Given the description of an element on the screen output the (x, y) to click on. 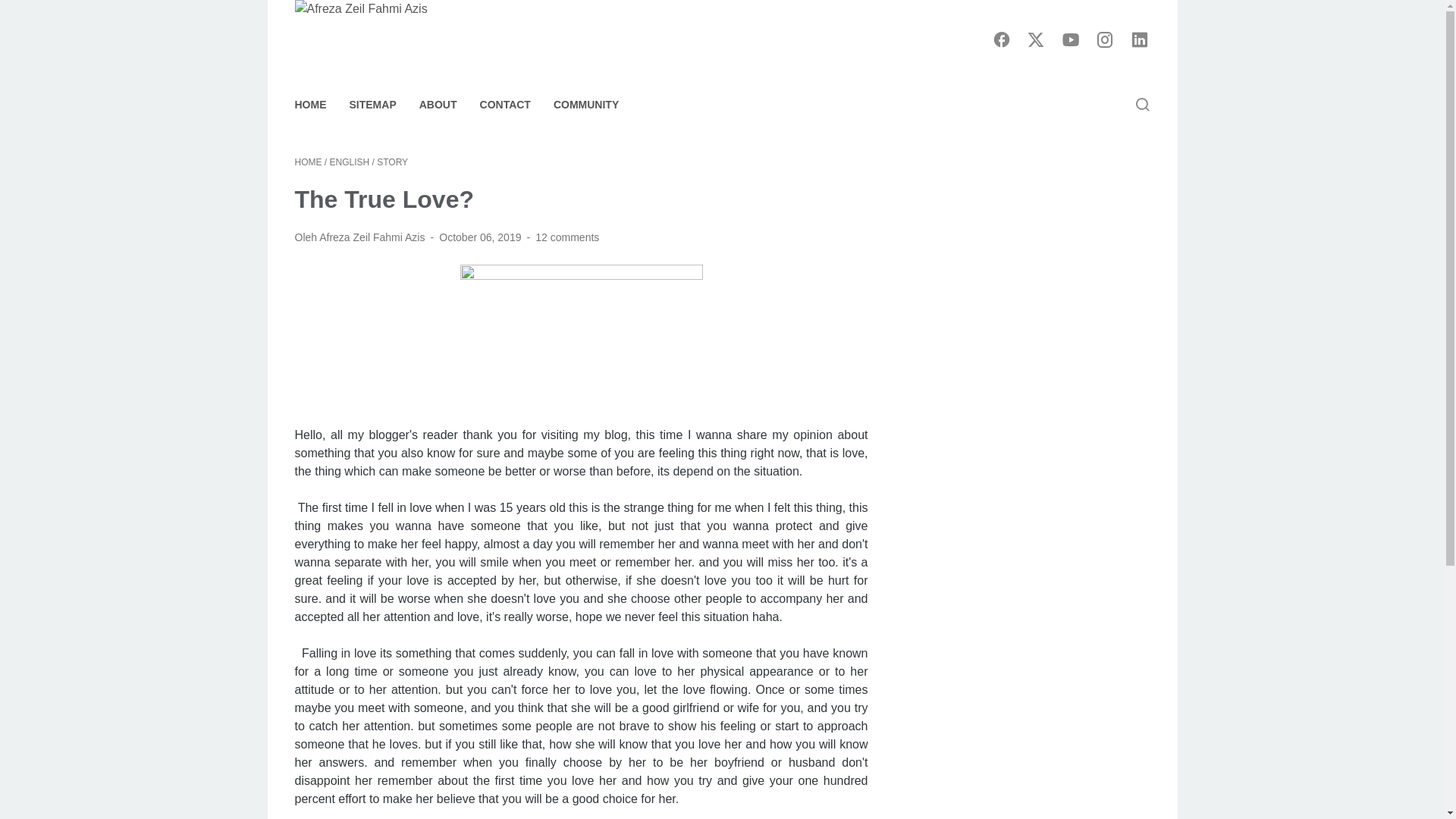
12 comments (566, 236)
SITEMAP (372, 104)
CONTACT (505, 104)
COMMUNITY (585, 104)
Story (392, 162)
ABOUT (438, 104)
STORY (392, 162)
ENGLISH (351, 162)
English (351, 162)
Afreza Zeil Fahmi Azis (415, 40)
HOME (307, 162)
HOME (310, 104)
Home (307, 162)
